Given the description of an element on the screen output the (x, y) to click on. 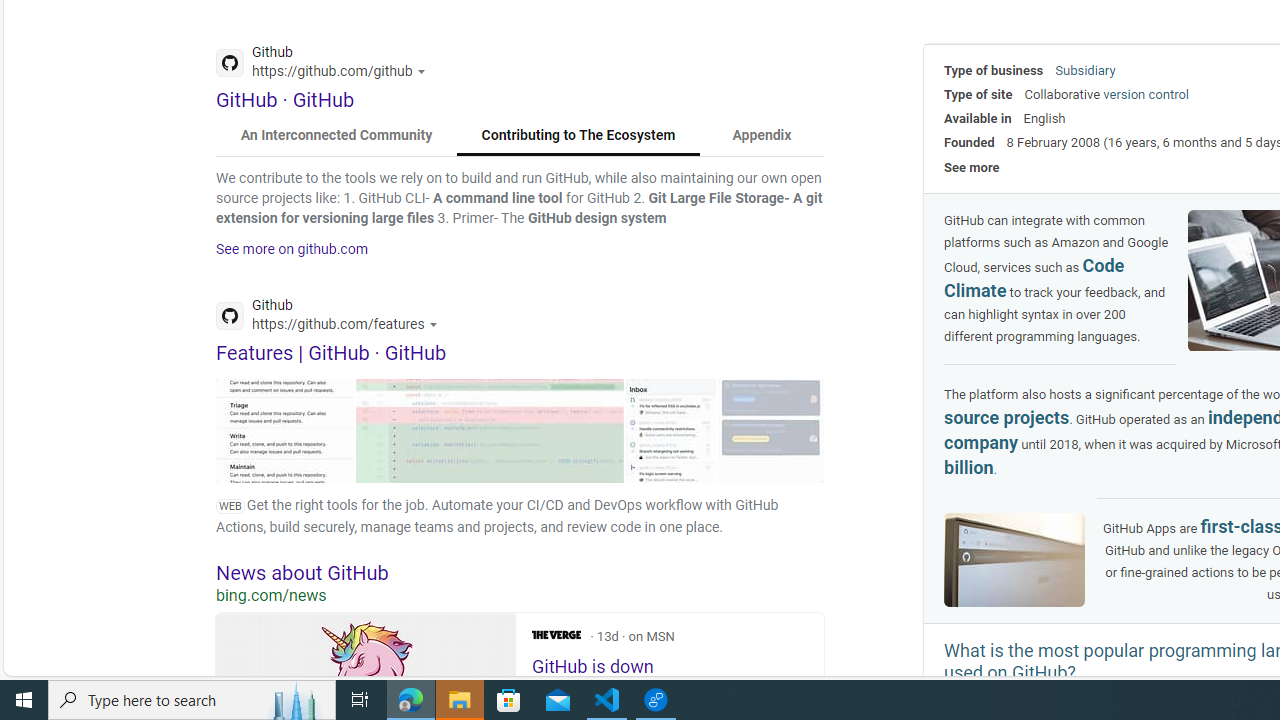
Actions for this site (435, 324)
Type of site (978, 94)
Available in (978, 117)
See more on github.com (292, 249)
Contributing to The Ecosystem (578, 135)
View details (771, 430)
Type of business (994, 70)
Subsidiary (1085, 70)
Appendix (761, 135)
An Interconnected Community (337, 135)
